Given the description of an element on the screen output the (x, y) to click on. 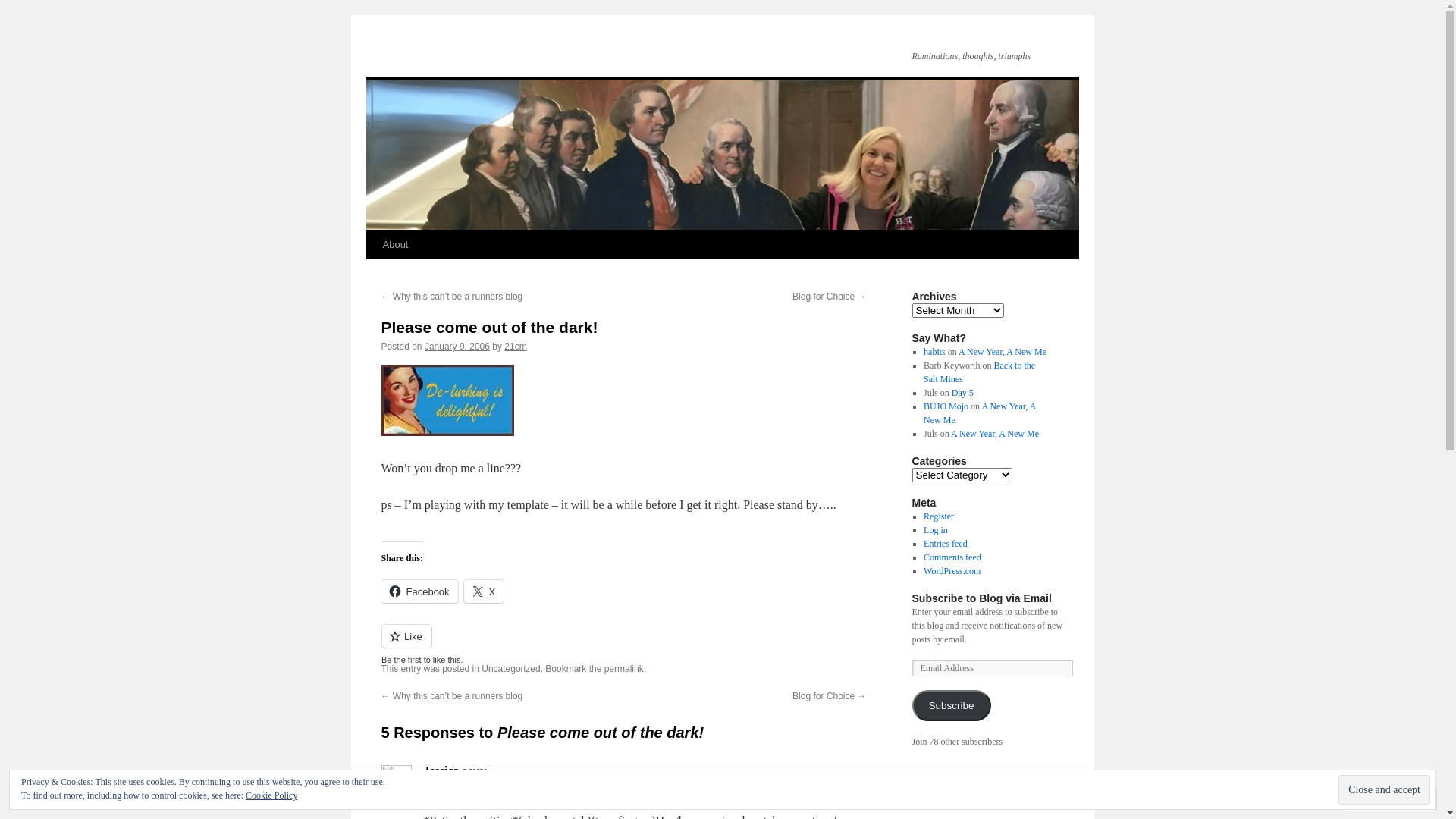
Register Element type: text (938, 516)
Close and accept Element type: text (1384, 789)
Entries feed Element type: text (945, 543)
21cm Element type: text (515, 346)
Log in Element type: text (935, 529)
About Element type: text (394, 244)
WordPress.com Element type: text (951, 570)
habits Element type: text (934, 351)
January 9, 2006 Element type: text (456, 346)
Subscribe Element type: text (950, 705)
Cookie Policy Element type: text (271, 795)
Facebook Element type: text (418, 591)
A New Year, A New Me Element type: text (979, 413)
Uncategorized Element type: text (510, 668)
A New Year, A New Me Element type: text (994, 433)
January 11, 2006 at 10:24 am Element type: text (483, 789)
Follow Element type: text (1374, 797)
Back to the Salt Mines Element type: text (979, 372)
Please come out of the dark! Element type: text (488, 326)
Comments feed Element type: text (952, 557)
X Element type: text (484, 591)
Day 5 Element type: text (962, 392)
Like or Reblog Element type: hover (623, 644)
permalink Element type: text (623, 668)
A New Year, A New Me Element type: text (1002, 351)
BUJO Mojo Element type: text (945, 406)
